Given the description of an element on the screen output the (x, y) to click on. 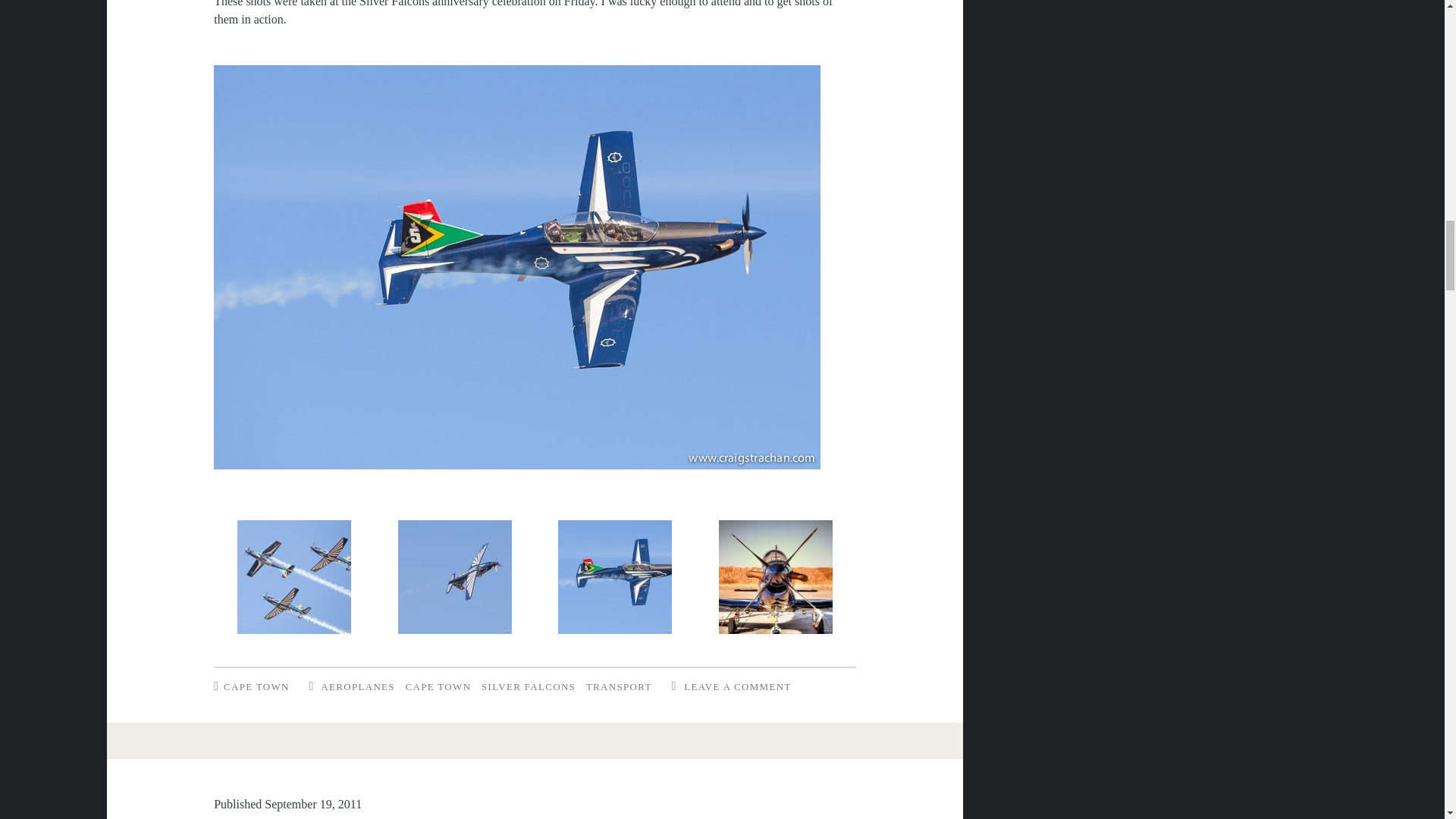
CAPE TOWN (438, 686)
View all posts in Cape Town (256, 686)
View all posts tagged silver falcons (528, 686)
View all posts tagged aeroplanes (357, 686)
SILVER FALCONS (528, 686)
View all posts tagged transport (619, 686)
CAPE TOWN (256, 686)
LEAVE A COMMENT (737, 686)
AEROPLANES (357, 686)
TRANSPORT (619, 686)
View all posts tagged cape town (438, 686)
